Given the description of an element on the screen output the (x, y) to click on. 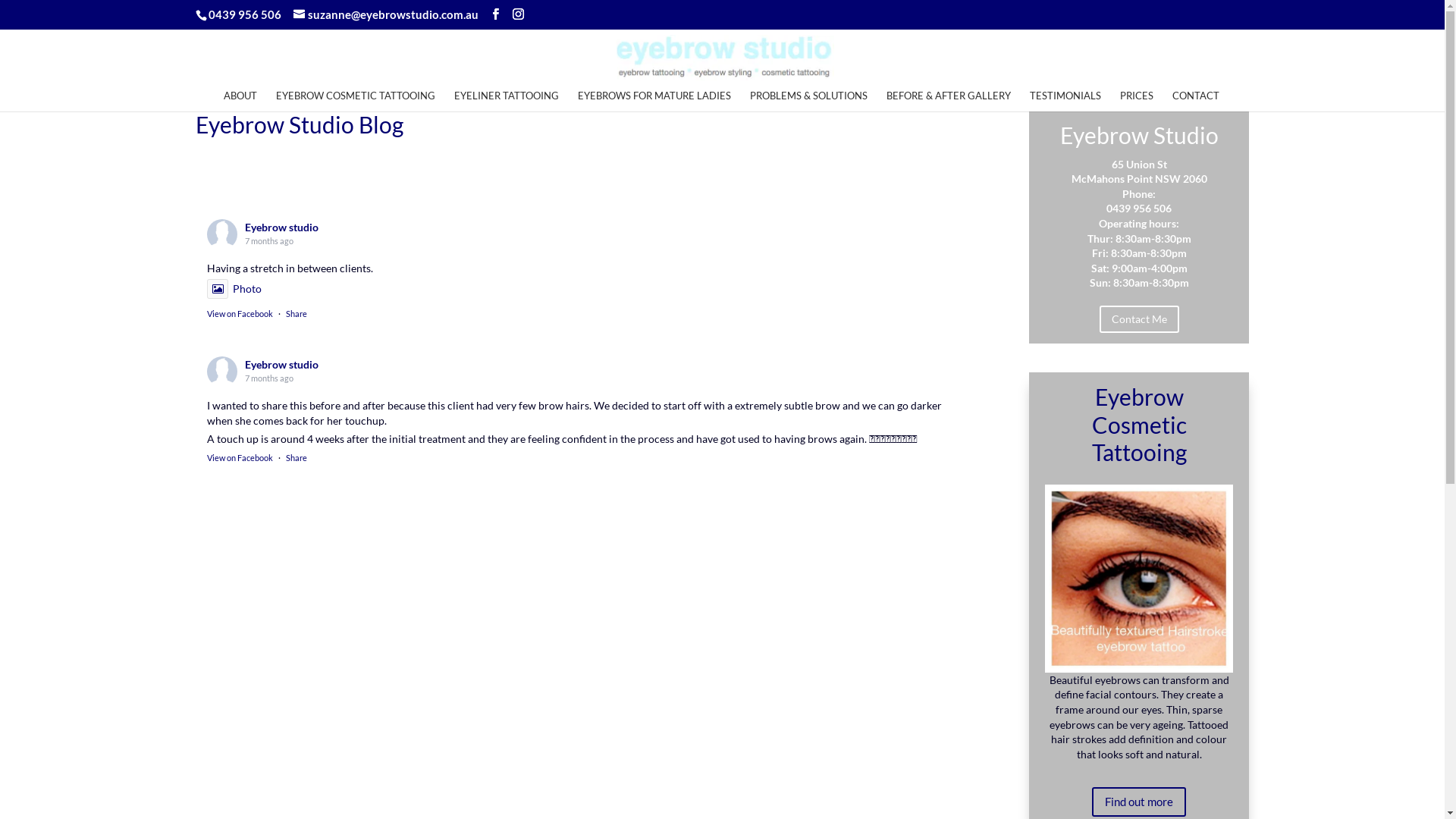
ABOUT Element type: text (240, 99)
Photo Element type: text (234, 288)
CONTACT Element type: text (1195, 99)
Find out more Element type: text (1139, 801)
Contact Me Element type: text (1139, 318)
View on Facebook Element type: text (240, 313)
Share Element type: text (296, 457)
EYEBROWS FOR MATURE LADIES Element type: text (654, 99)
Eyebrow studio Element type: text (281, 226)
View on Facebook Element type: text (240, 457)
TESTIMONIALS Element type: text (1065, 99)
0439 956 506 Element type: text (243, 14)
Eyebrow studio Element type: text (281, 363)
suzanne@eyebrowstudio.com.au Element type: text (385, 14)
EYEBROW COSMETIC TATTOOING Element type: text (355, 99)
PRICES Element type: text (1136, 99)
Share Element type: text (296, 313)
BEFORE & AFTER GALLERY Element type: text (948, 99)
EYELINER TATTOOING Element type: text (506, 99)
PROBLEMS & SOLUTIONS Element type: text (808, 99)
